Given the description of an element on the screen output the (x, y) to click on. 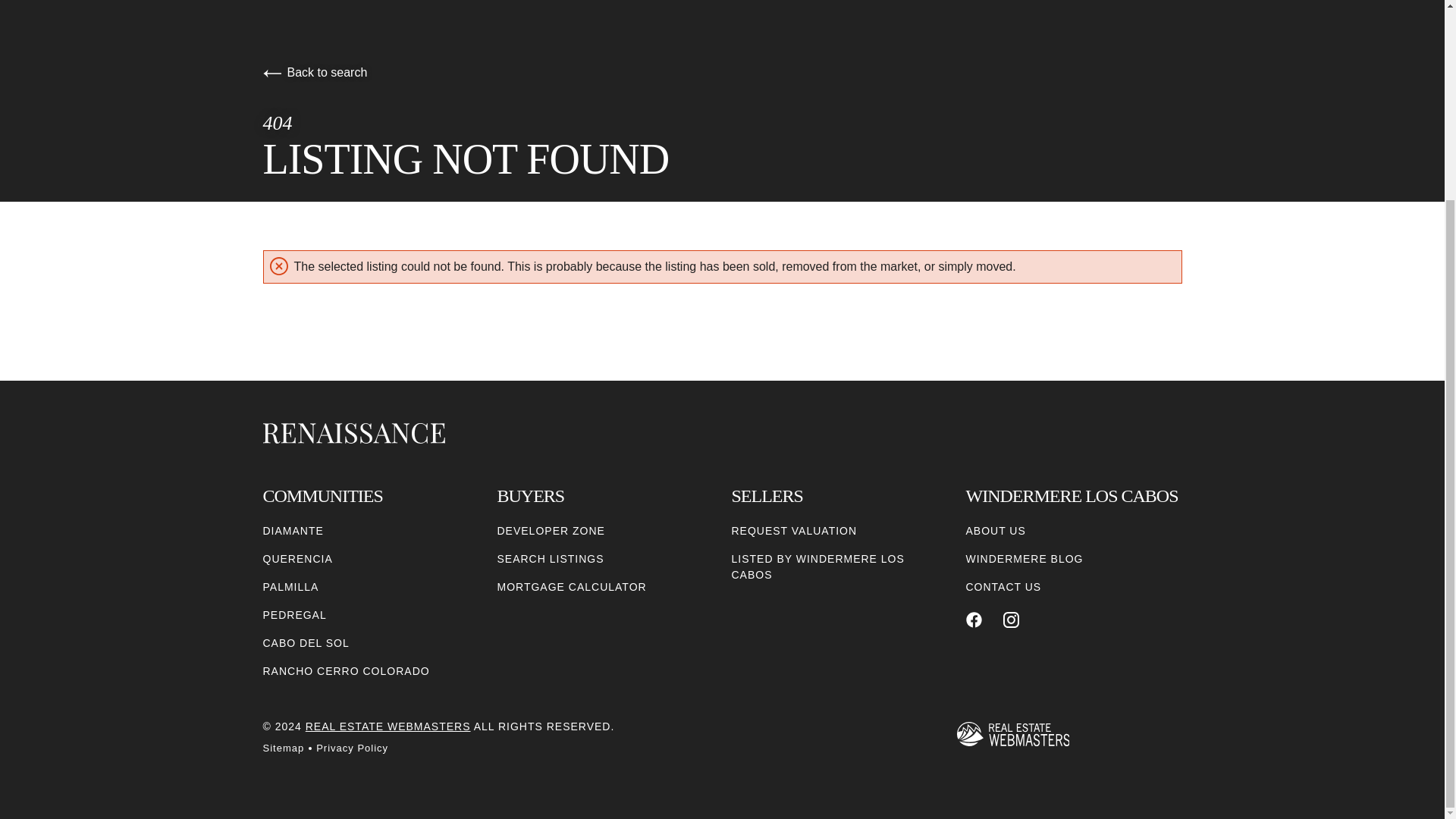
FACEBOOK (973, 619)
Back to search (314, 72)
QUERENCIA (296, 559)
PALMILLA (290, 587)
DIAMANTE (292, 530)
